Given the description of an element on the screen output the (x, y) to click on. 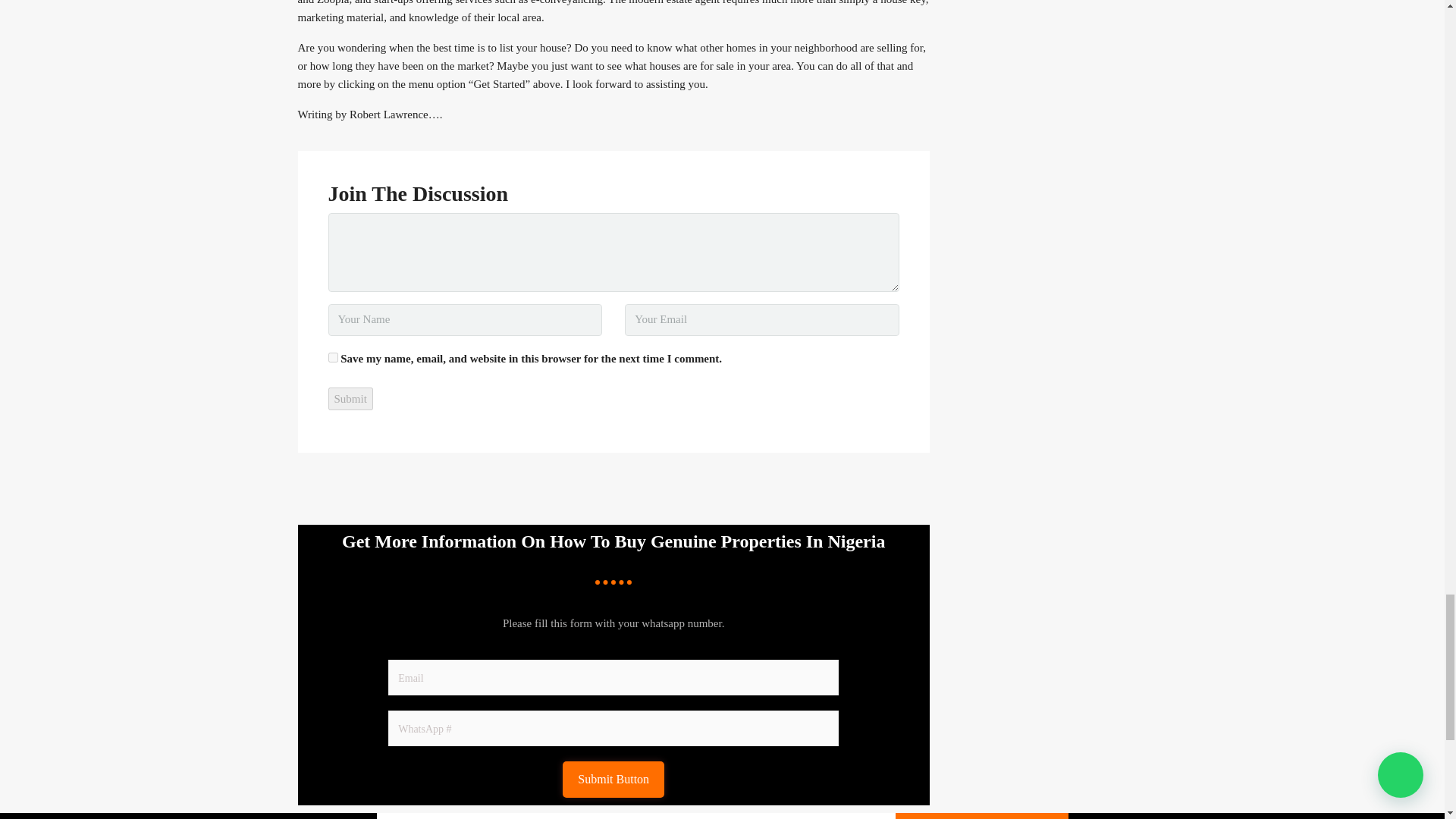
Submit (349, 398)
Submit (349, 398)
yes (332, 357)
